Given the description of an element on the screen output the (x, y) to click on. 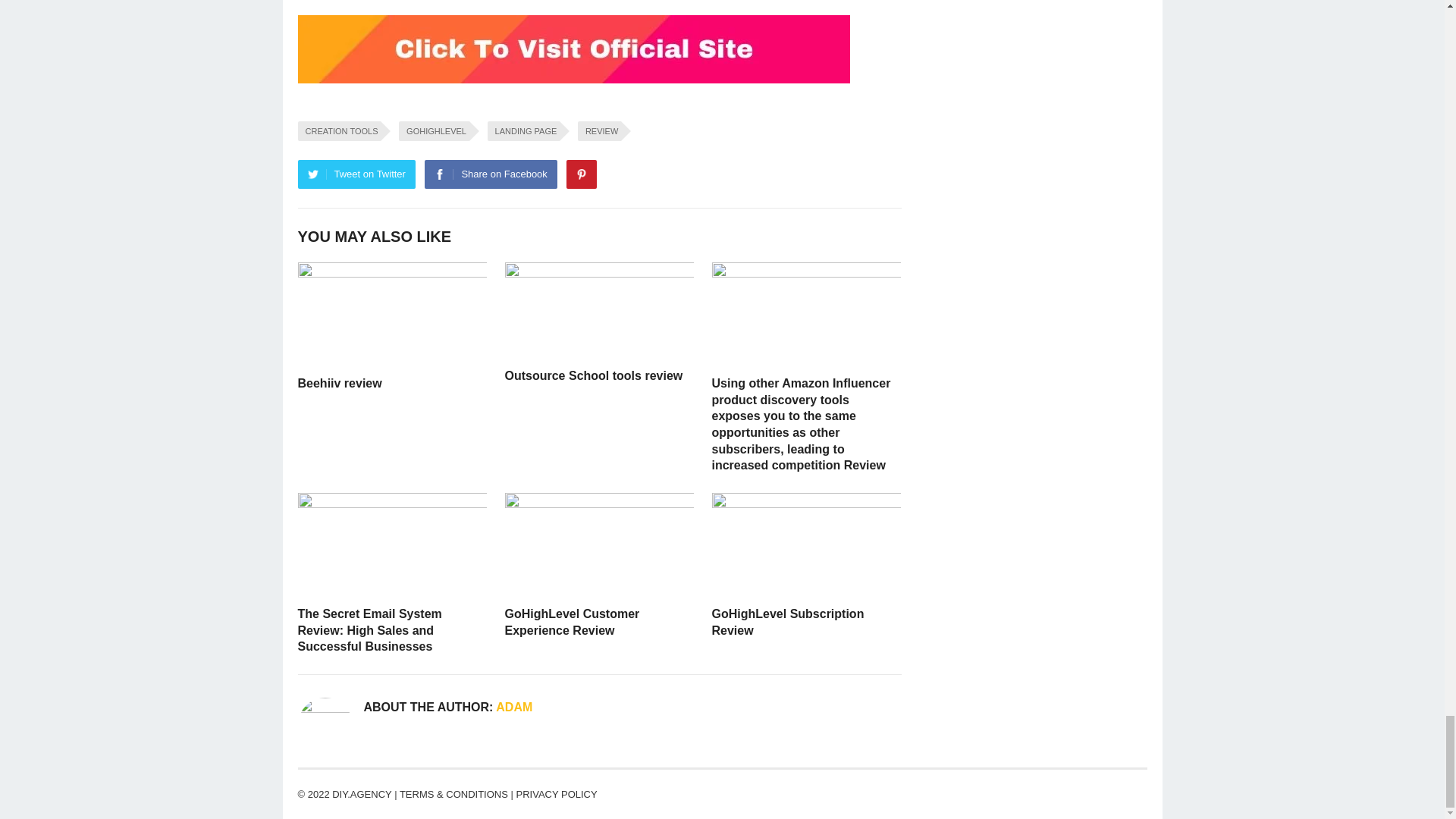
LANDING PAGE (523, 130)
CREATION TOOLS (338, 130)
GOHIGHLEVEL (433, 130)
